Given the description of an element on the screen output the (x, y) to click on. 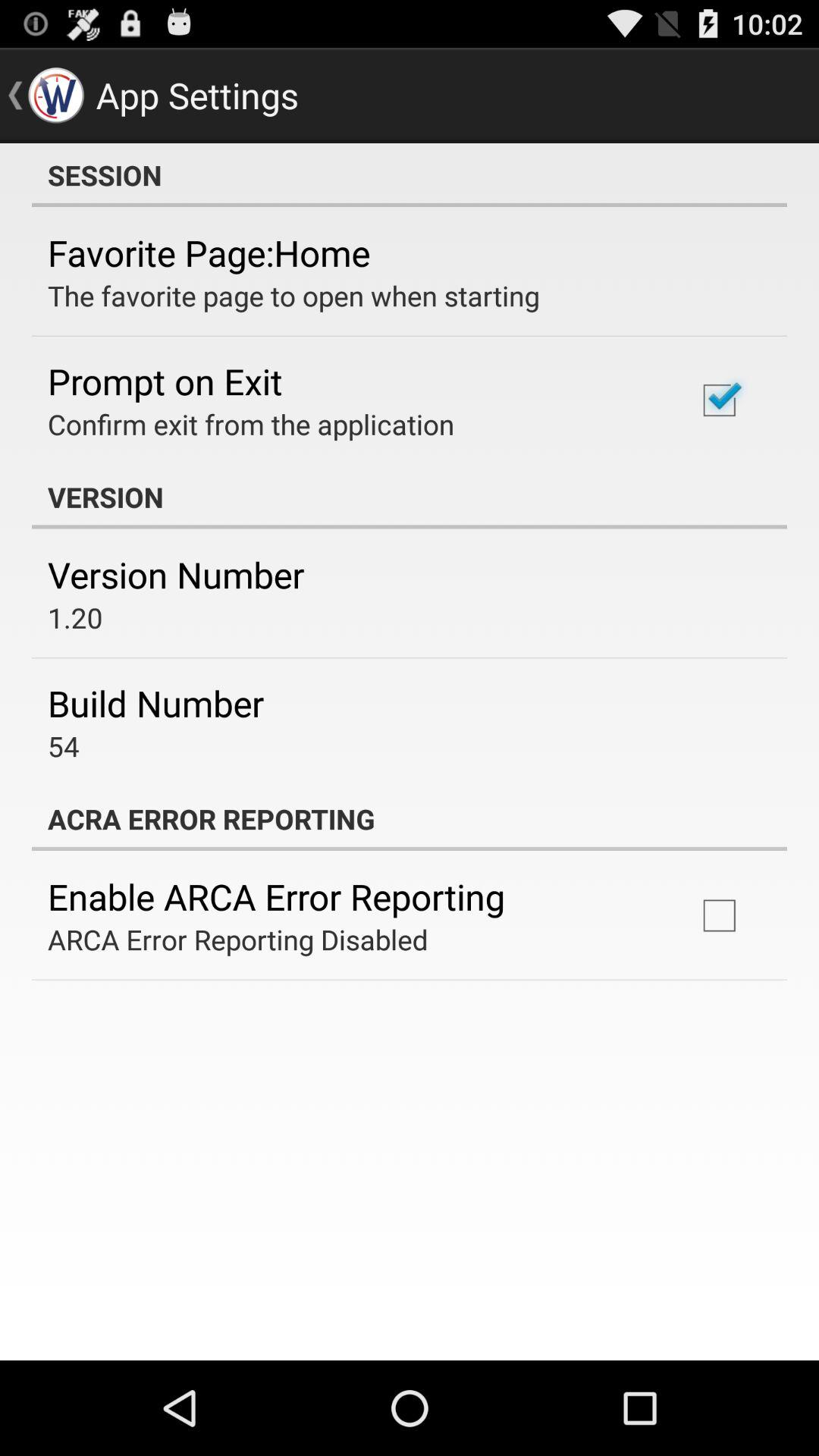
turn off the icon above confirm exit from (164, 381)
